Given the description of an element on the screen output the (x, y) to click on. 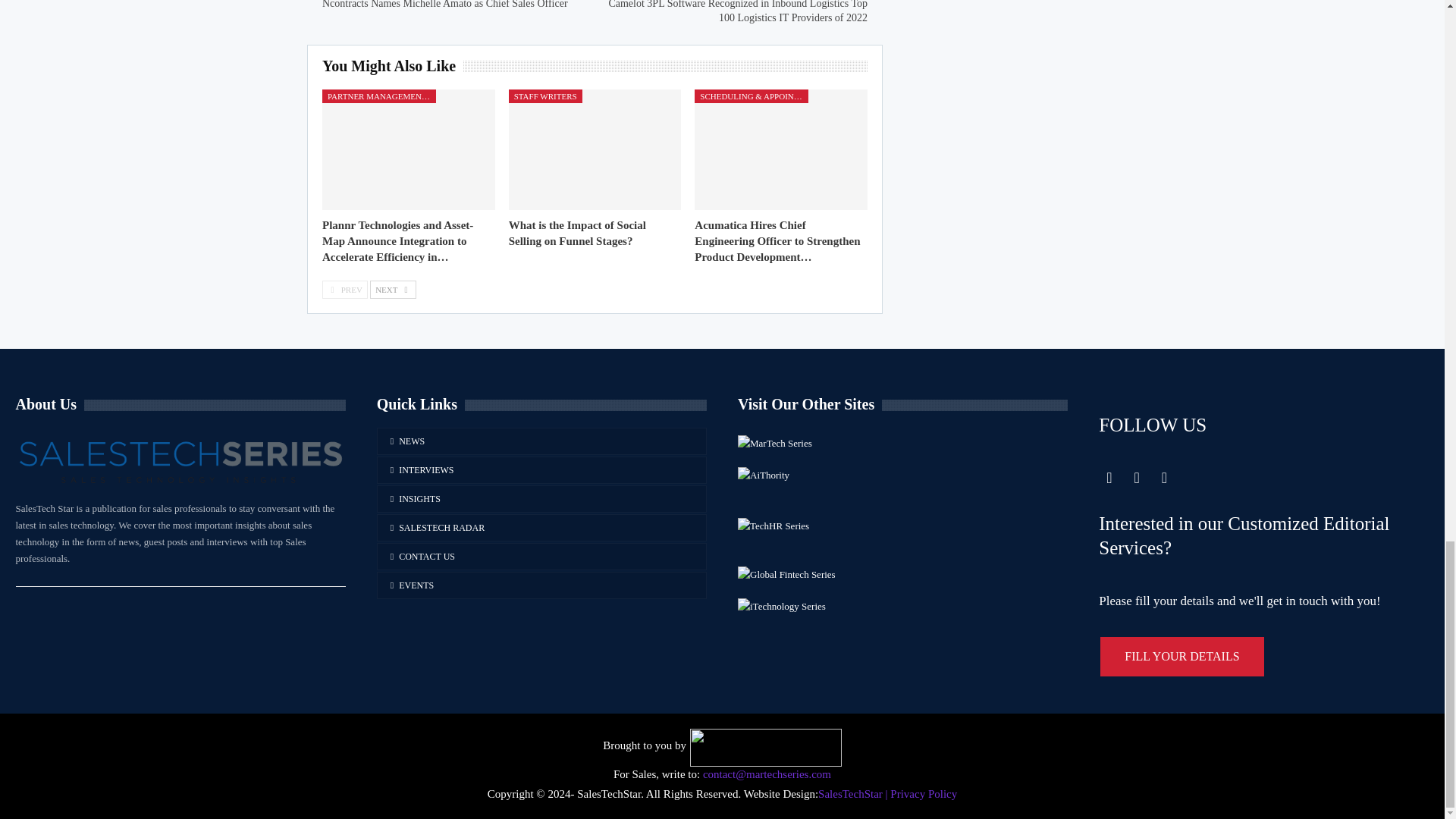
Next (392, 289)
What is the Impact of Social Selling on Funnel Stages? (577, 233)
Previous (344, 289)
What is the Impact of Social Selling on Funnel Stages? (594, 149)
